Given the description of an element on the screen output the (x, y) to click on. 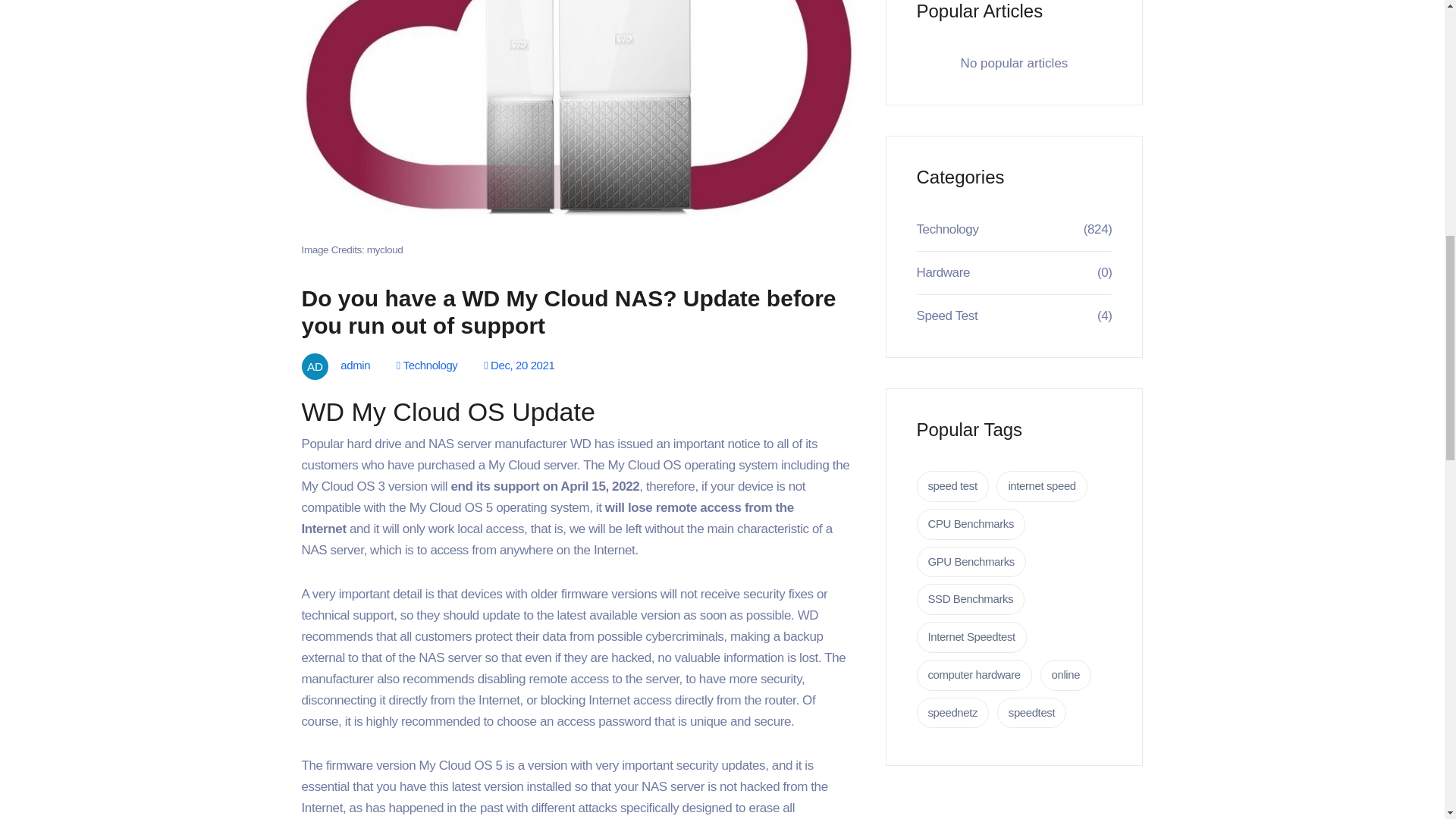
GPU Benchmarks (970, 562)
Hardware (942, 272)
internet speed (1040, 486)
computer hardware (972, 675)
Technology (946, 228)
speedtest (1031, 712)
admin (349, 365)
speed test (951, 486)
speednetz (951, 712)
online (1066, 675)
